Given the description of an element on the screen output the (x, y) to click on. 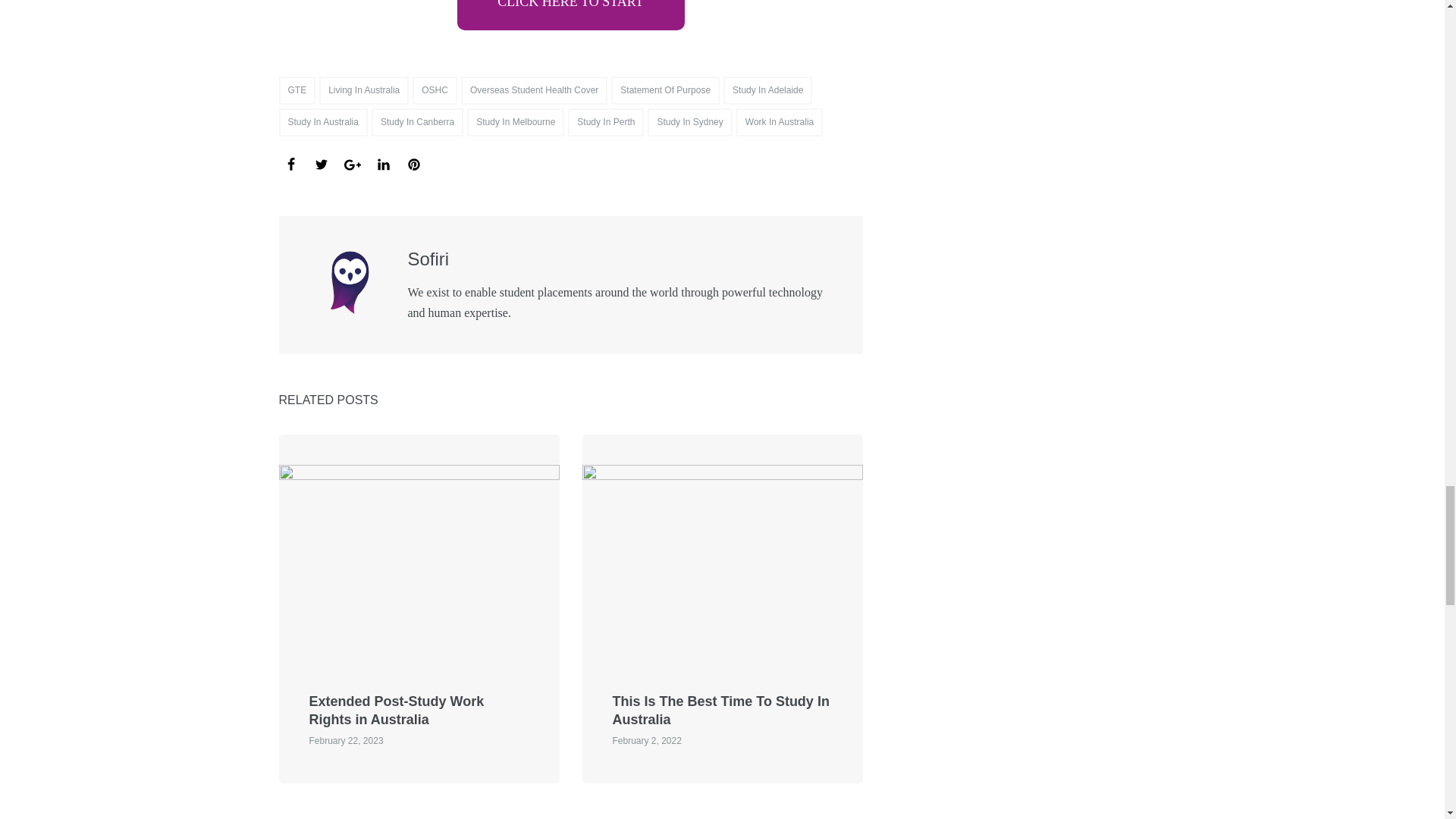
Share on Pinterest (413, 164)
Share on Twitter (320, 164)
Share on LinkedIn (383, 164)
Share on Facebook (290, 164)
